Given the description of an element on the screen output the (x, y) to click on. 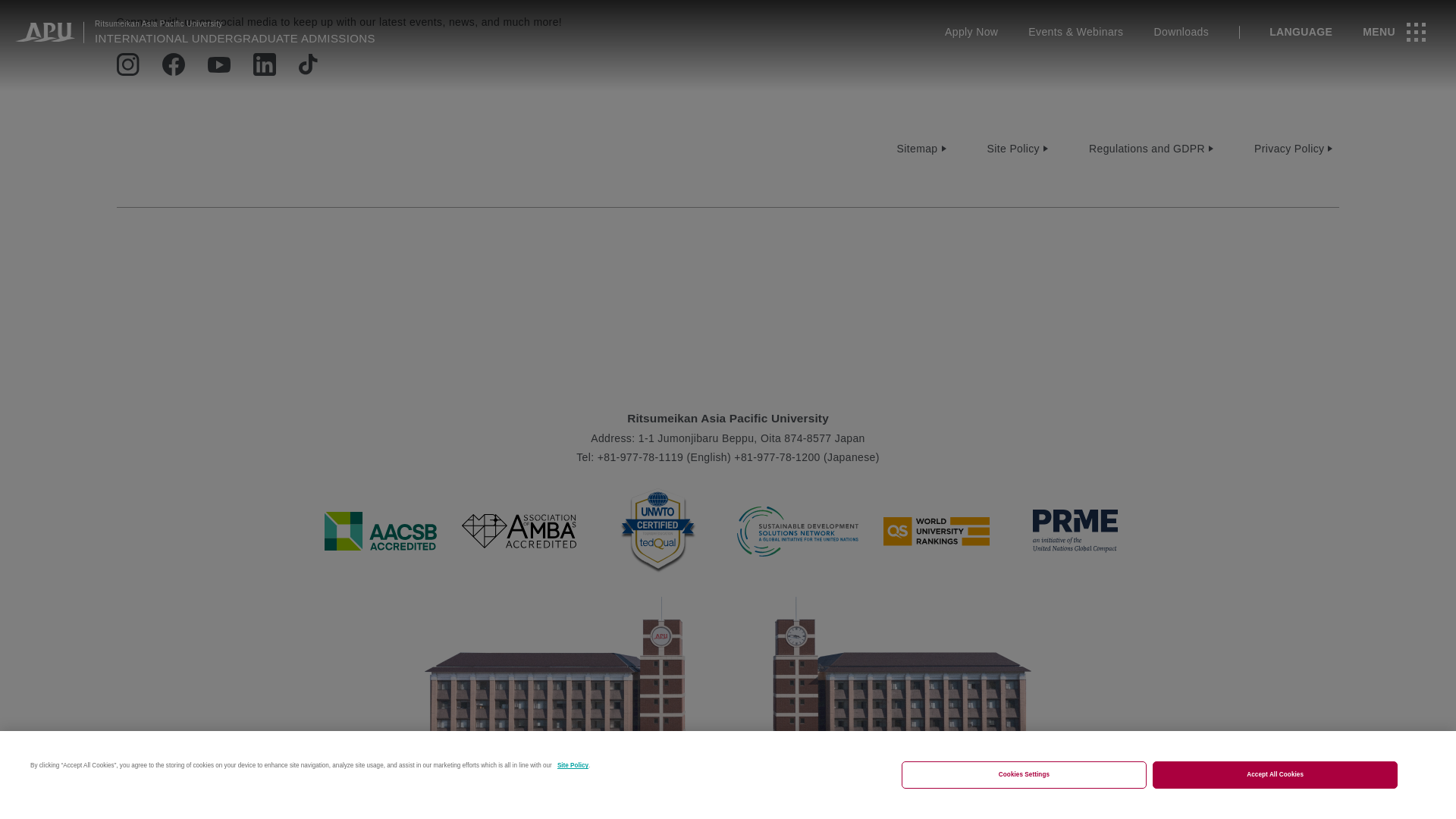
Sitemap (923, 148)
Privacy Policy (1294, 148)
Site Policy (1018, 148)
Regulations and GDPR (1152, 148)
